Given the description of an element on the screen output the (x, y) to click on. 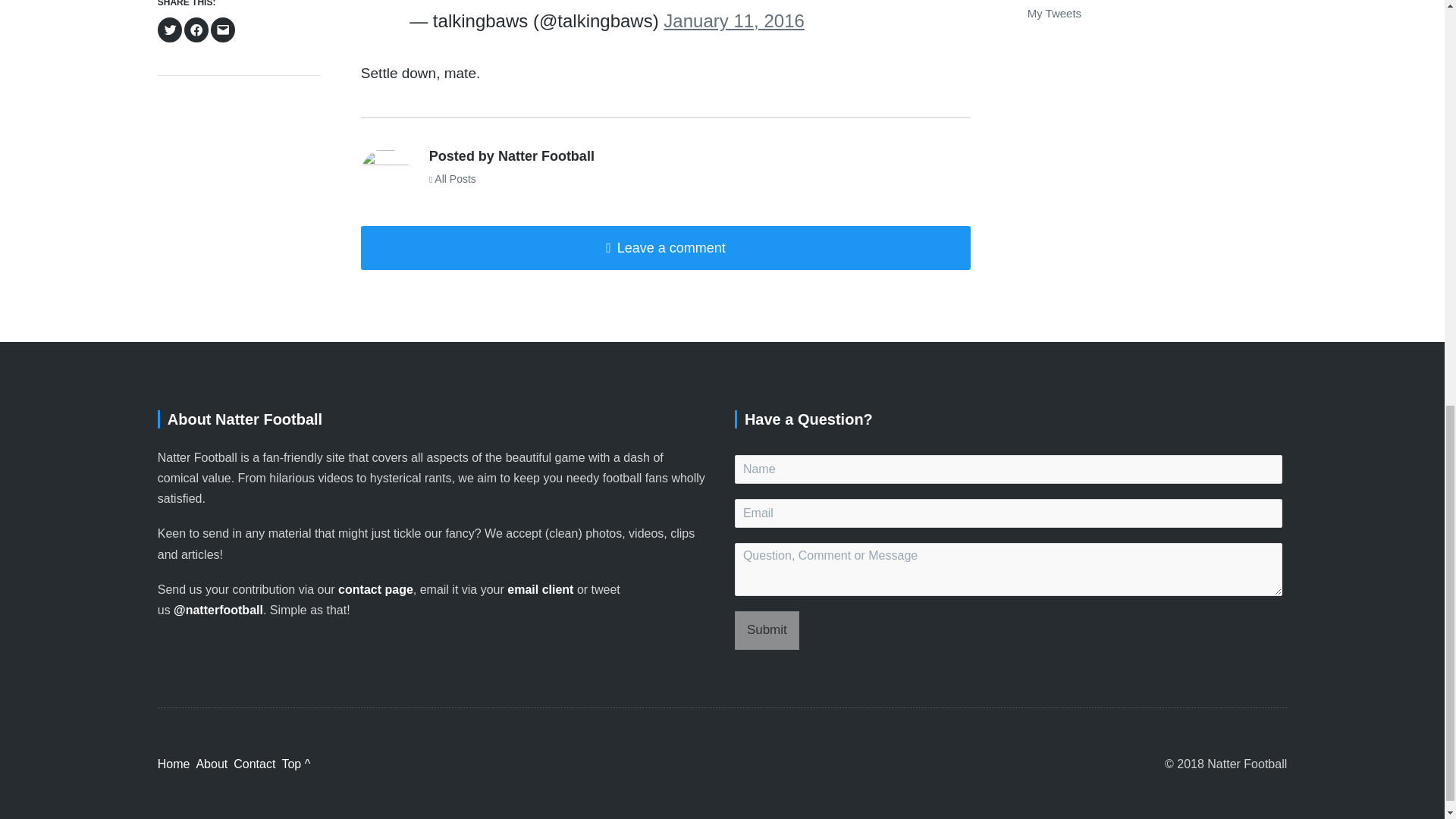
January 11, 2016 (733, 20)
Click to email a link to a friend (222, 29)
Posts by Natter Football (385, 173)
Click to share on Facebook (196, 29)
Click to share on Twitter (169, 29)
Leave a comment (666, 248)
All Posts (452, 178)
